Given the description of an element on the screen output the (x, y) to click on. 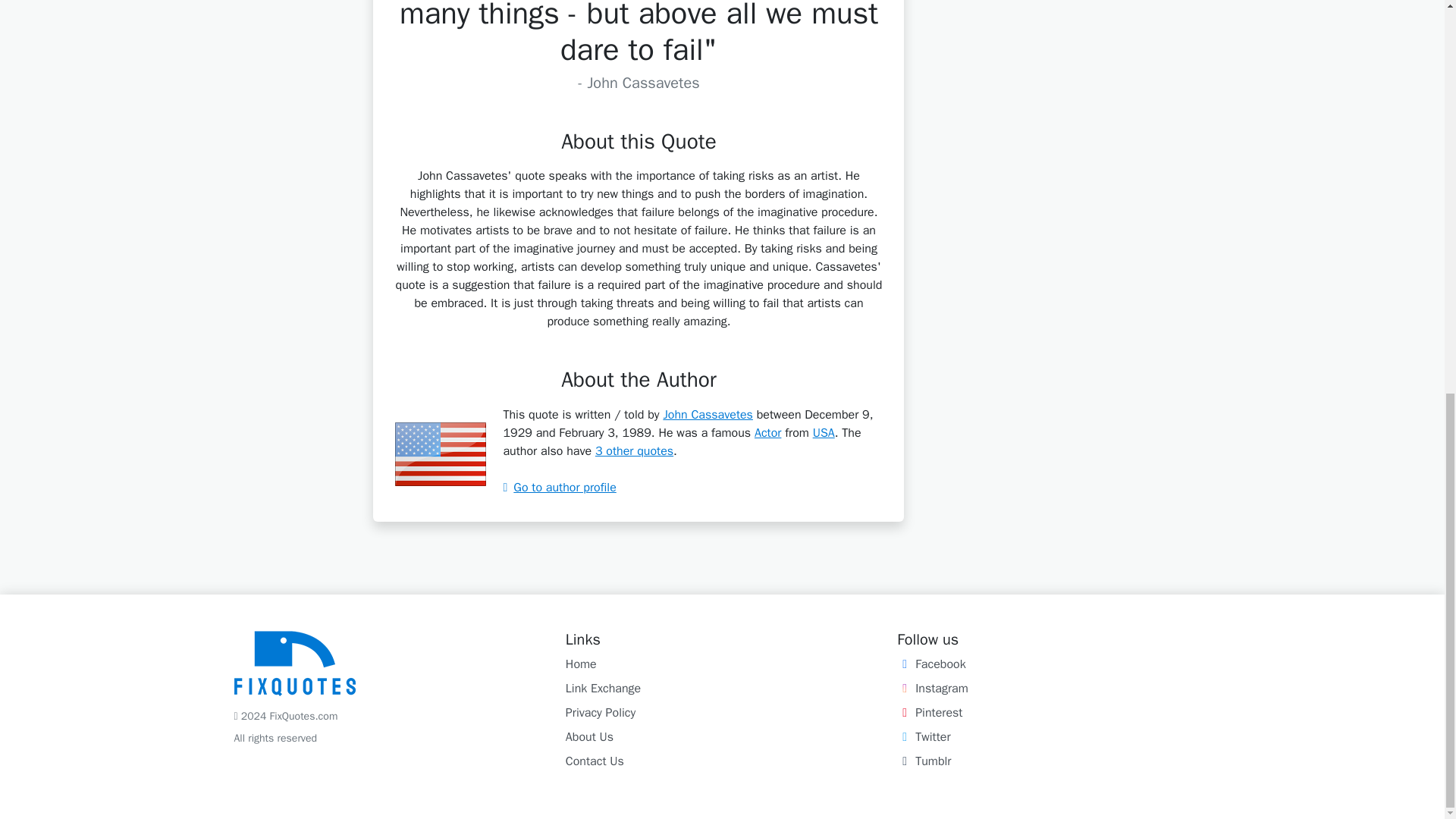
Twitter (923, 736)
Go to author profile (558, 487)
About Us (589, 736)
Instagram (932, 688)
John Cassavetes (707, 414)
Privacy Policy (600, 712)
Pinterest (929, 712)
Tumblr (923, 761)
3 other quotes (633, 450)
Facebook (930, 663)
Actor (767, 432)
Home (581, 663)
USA (823, 432)
Contact Us (595, 761)
Link Exchange (603, 688)
